Given the description of an element on the screen output the (x, y) to click on. 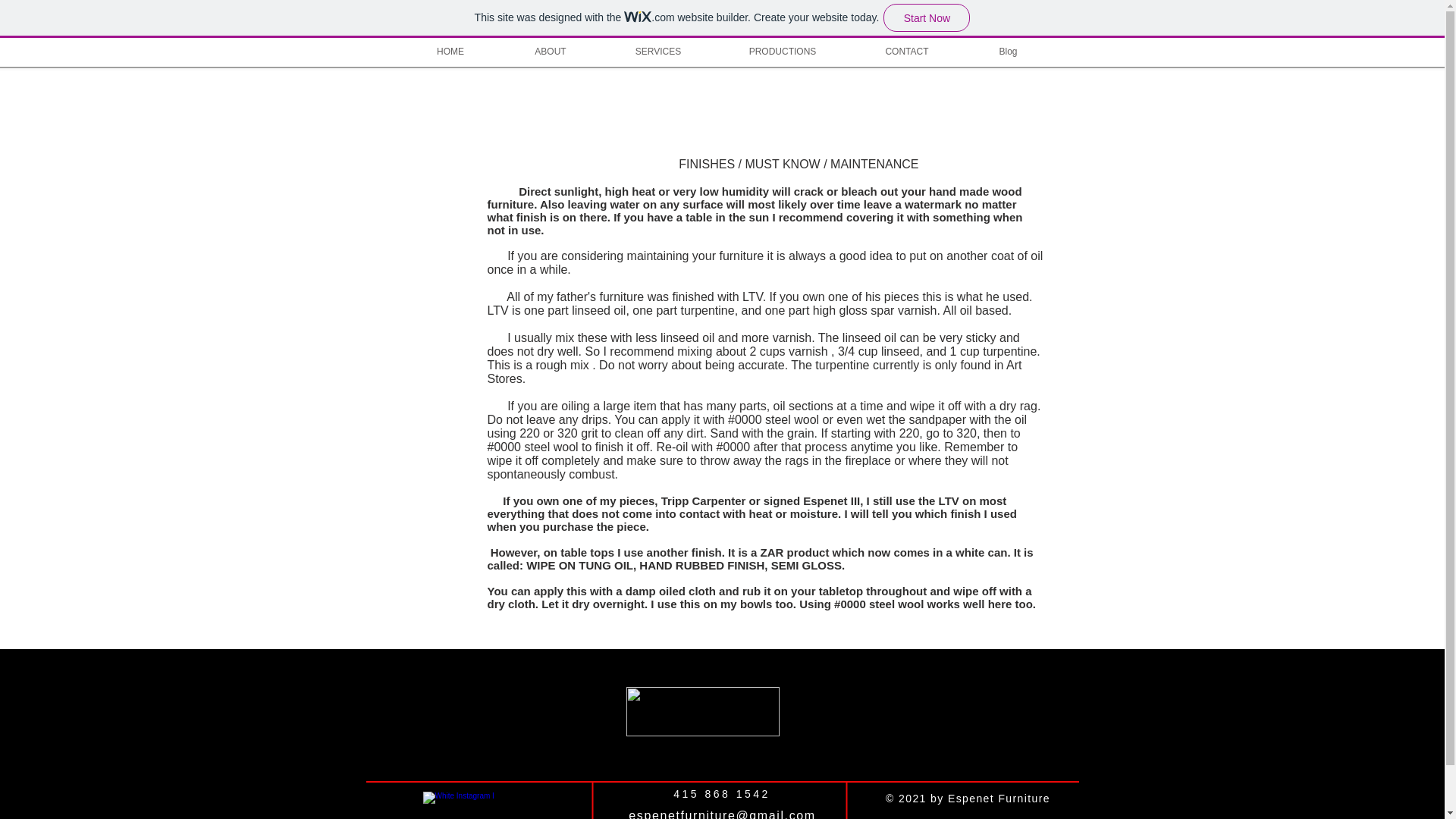
CONTACT (906, 51)
Blog (1007, 51)
HOME (450, 51)
